Given the description of an element on the screen output the (x, y) to click on. 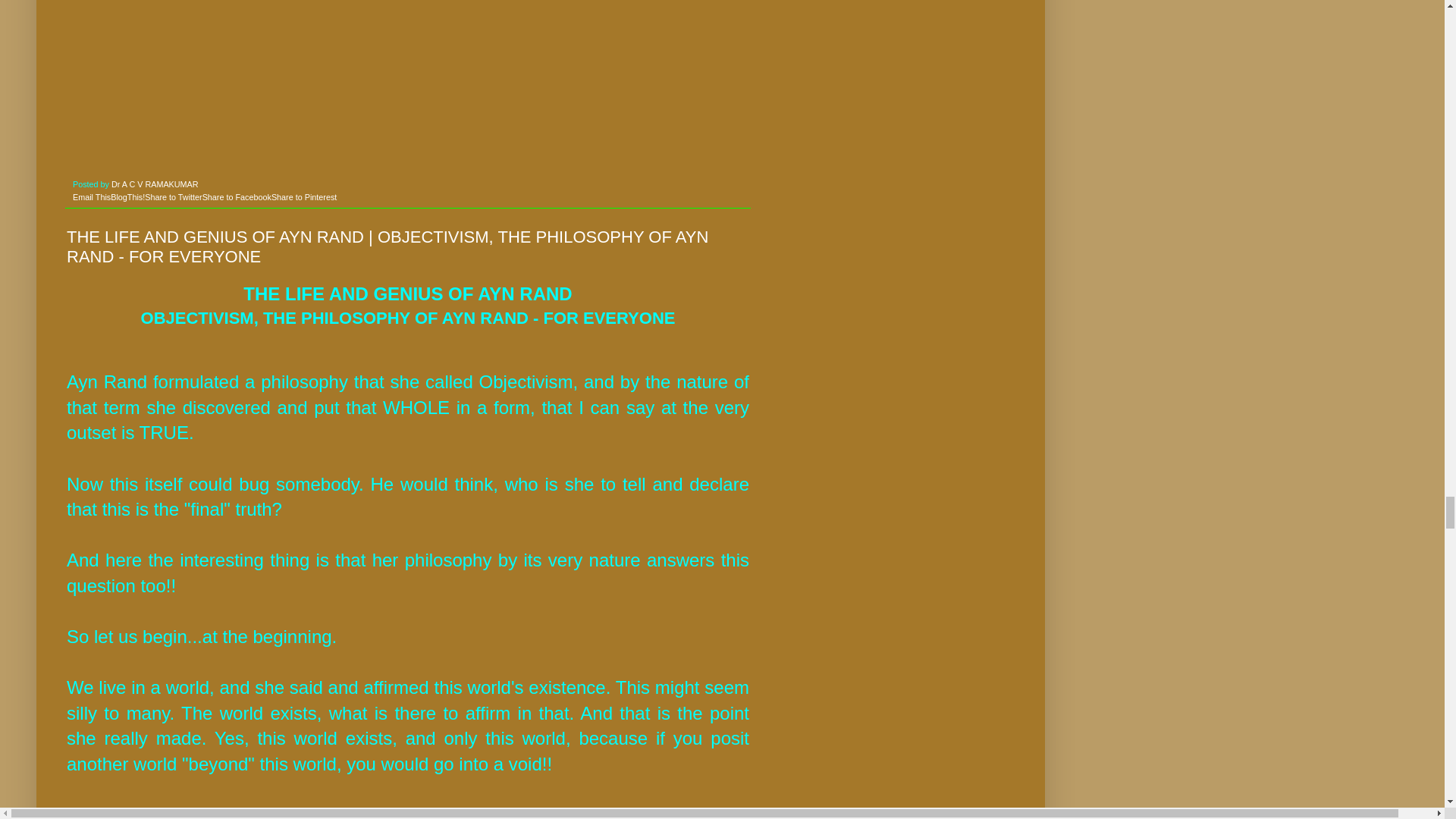
author profile (155, 184)
